Given the description of an element on the screen output the (x, y) to click on. 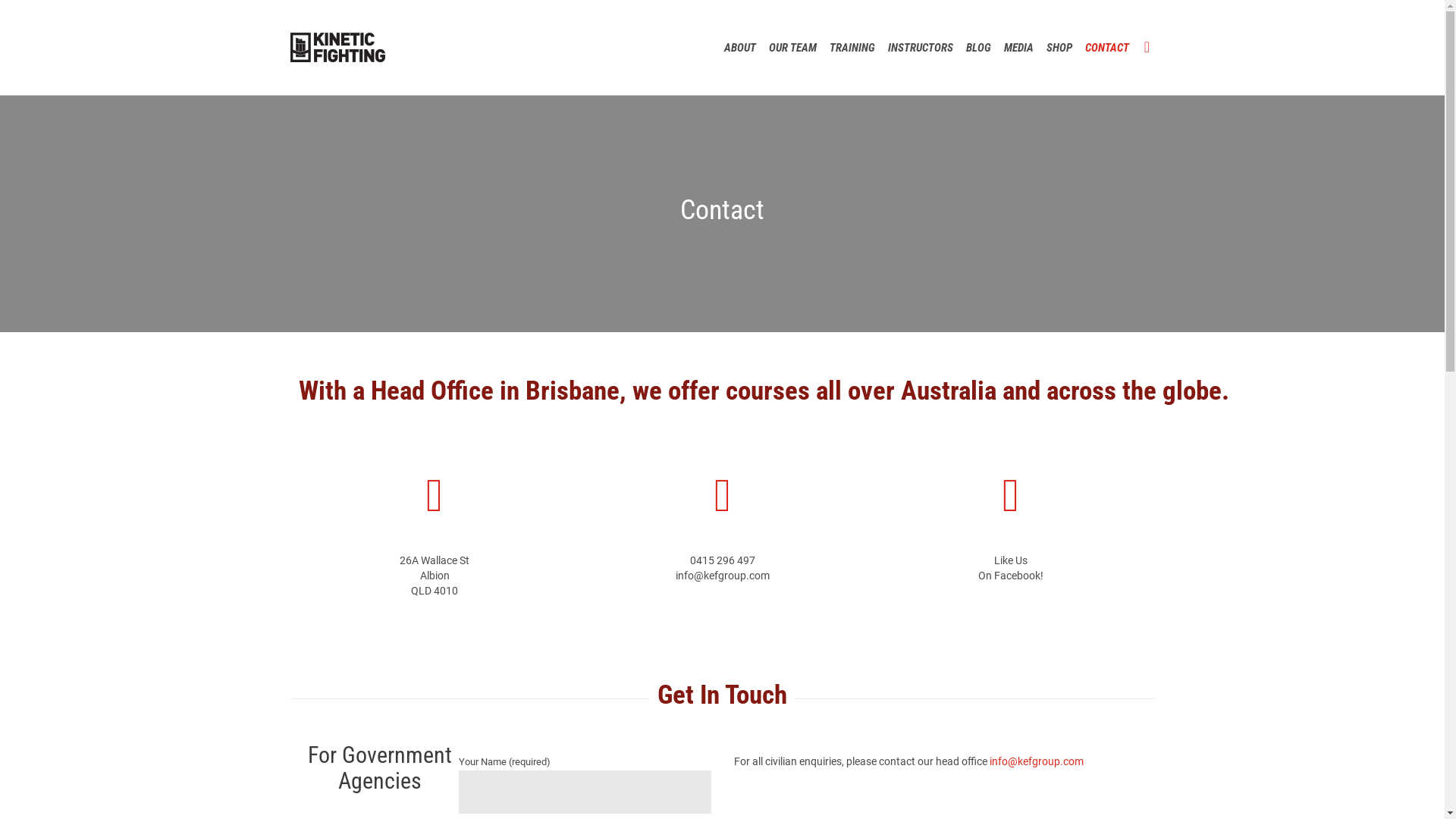
OUR TEAM Element type: text (792, 46)
MEDIA Element type: text (1019, 46)
TRAINING Element type: text (852, 46)
INSTRUCTORS Element type: text (920, 46)
info@kefgroup.com Element type: text (1035, 761)
ABOUT Element type: text (739, 46)
BLOG Element type: text (978, 46)
CONTACT Element type: text (1106, 46)
SHOP Element type: text (1059, 46)
SKIP TO CONTENT Element type: text (1134, 27)
Kinetic Fighting Element type: hover (336, 47)
Like Us
On Facebook! Element type: text (1010, 567)
